Given the description of an element on the screen output the (x, y) to click on. 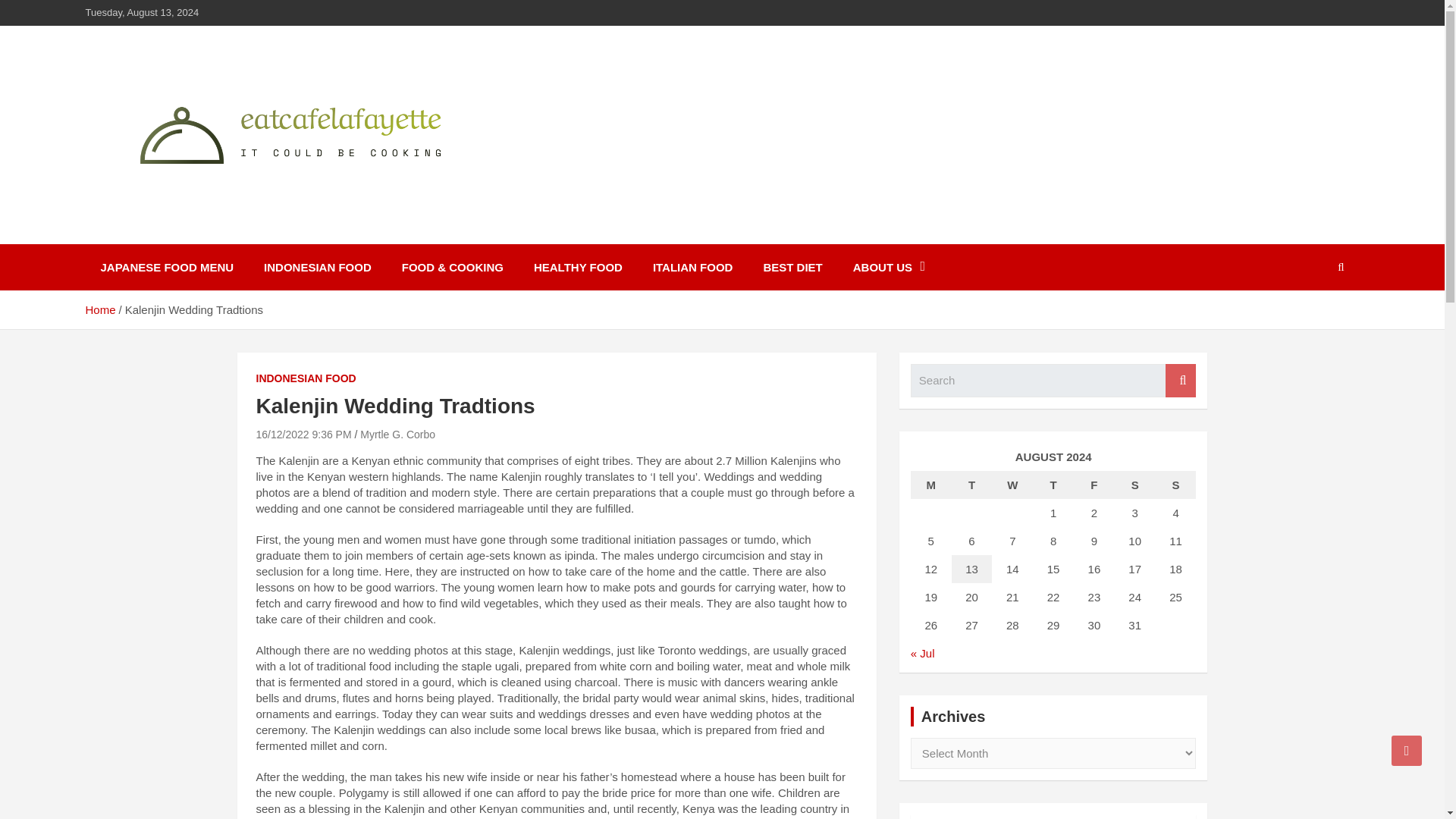
INDONESIAN FOOD (306, 378)
BEST DIET (792, 267)
Thursday (1053, 484)
Saturday (1135, 484)
Wednesday (1011, 484)
Sunday (1176, 484)
Kalenjin Wedding Tradtions (304, 434)
Friday (1094, 484)
HEALTHY FOOD (577, 267)
Monday (931, 484)
